Given the description of an element on the screen output the (x, y) to click on. 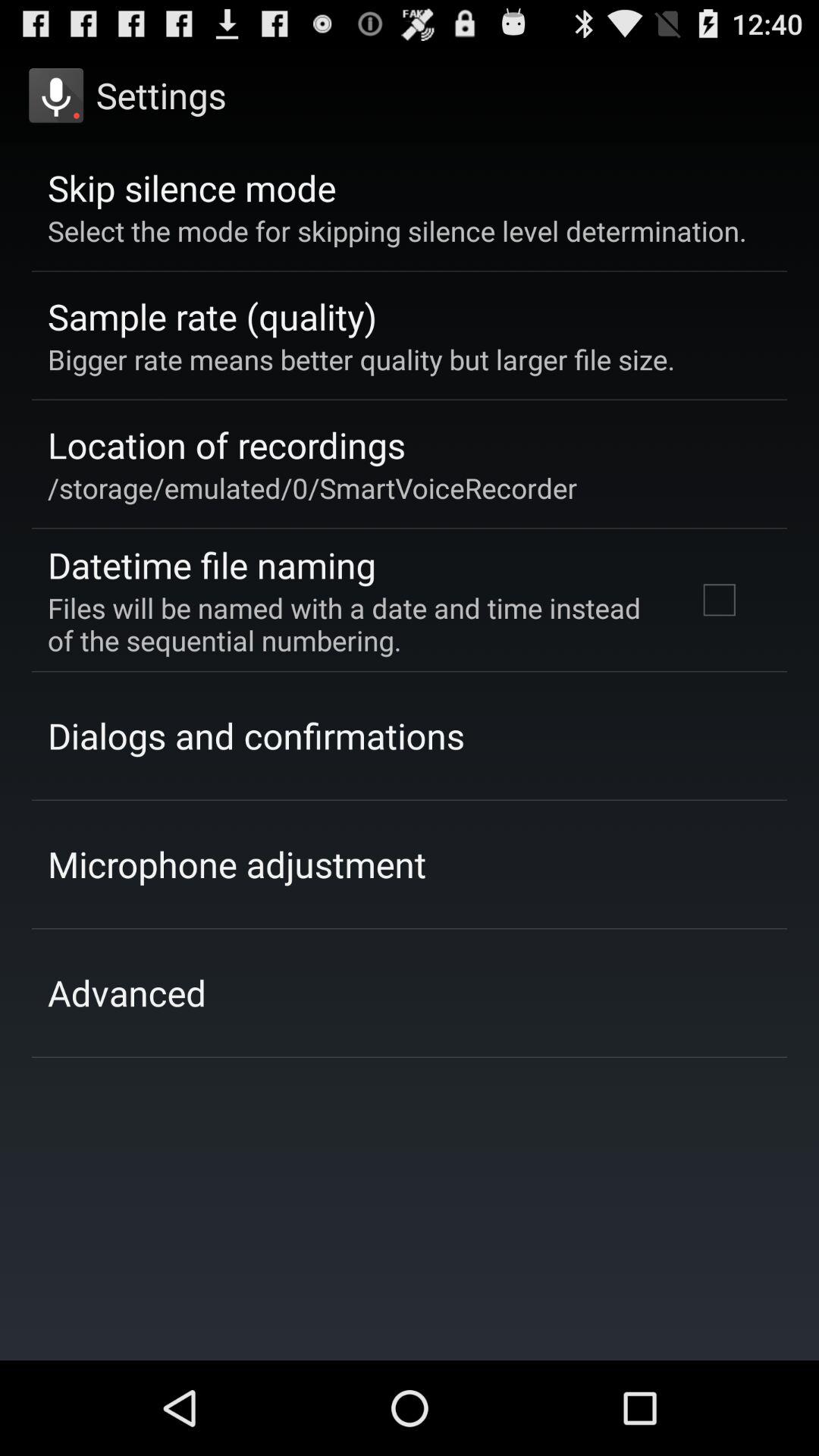
swipe until datetime file naming item (211, 564)
